Given the description of an element on the screen output the (x, y) to click on. 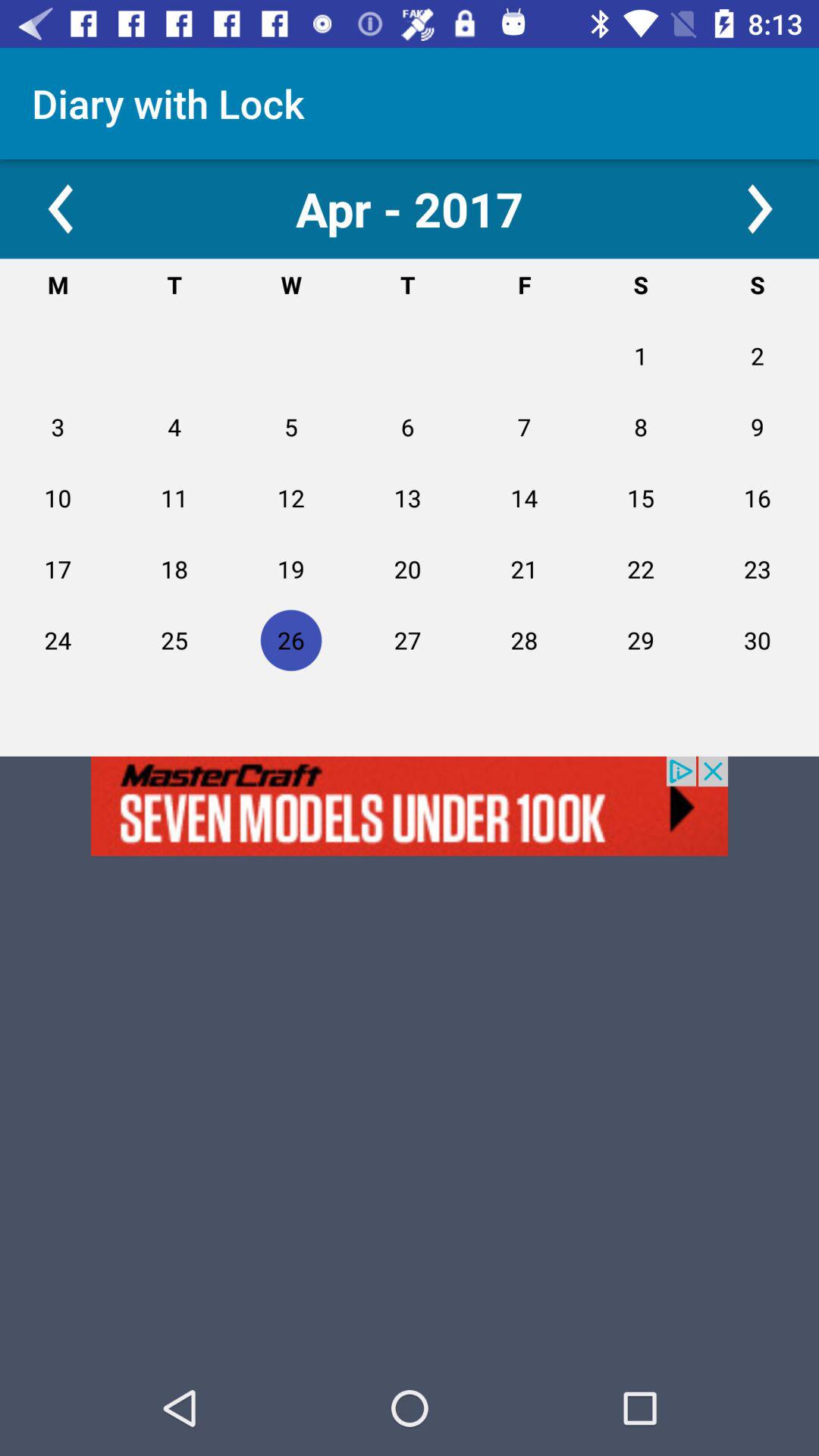
go to advertisement (409, 805)
